Given the description of an element on the screen output the (x, y) to click on. 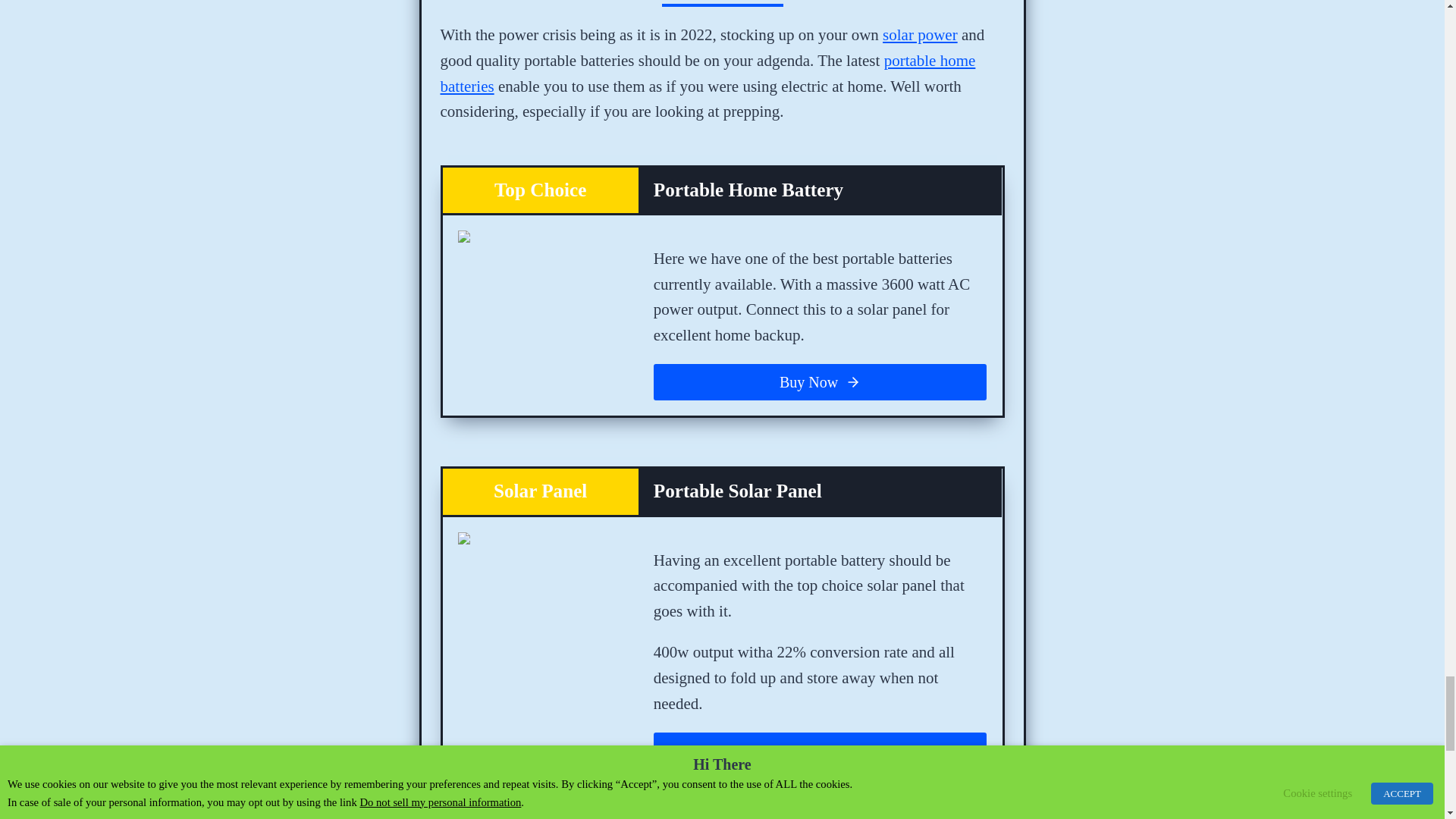
Buy Now (820, 381)
portable home batteries (707, 73)
Buy Now (820, 750)
solar power (920, 34)
